Given the description of an element on the screen output the (x, y) to click on. 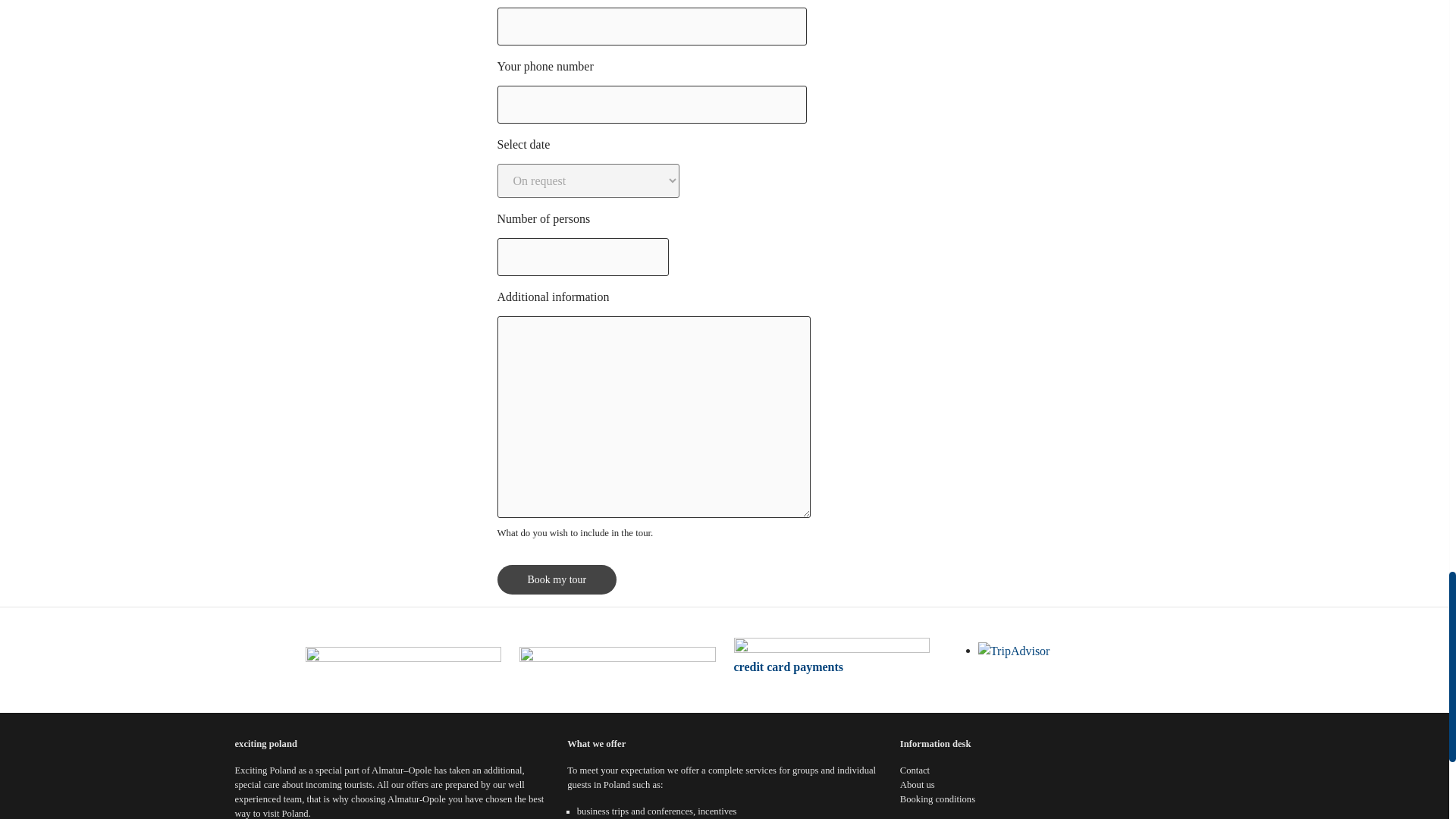
credit card payments (788, 666)
Booking conditions (937, 798)
About us (916, 784)
Book my tour (557, 579)
Contact (914, 769)
Book my tour (557, 579)
